Given the description of an element on the screen output the (x, y) to click on. 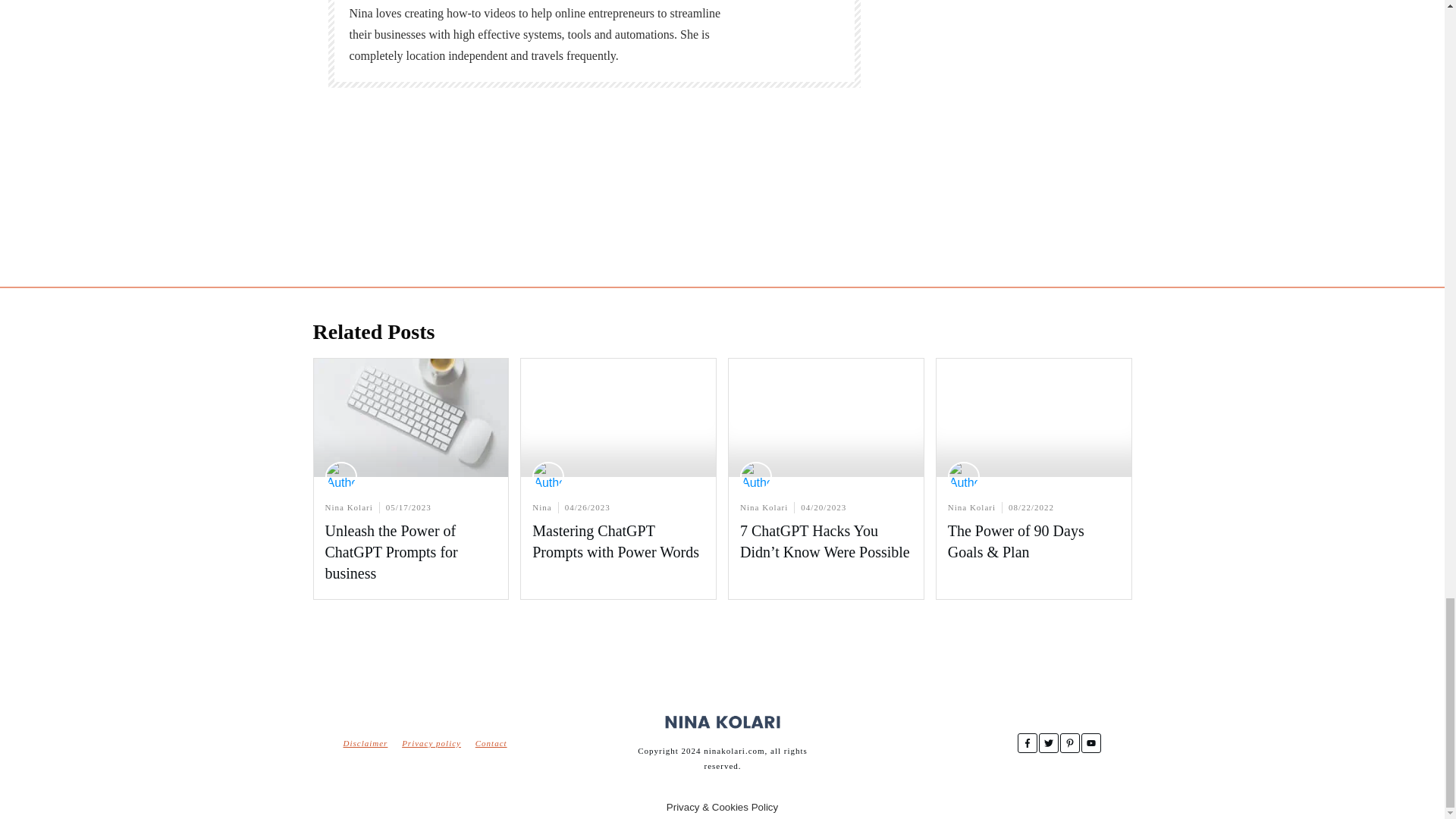
Unleash the Power of ChatGPT Prompts for business (390, 551)
Unleash the Power of ChatGPT Prompts for business (390, 551)
Mastering ChatGPT Prompts with Power Words (615, 541)
